Given the description of an element on the screen output the (x, y) to click on. 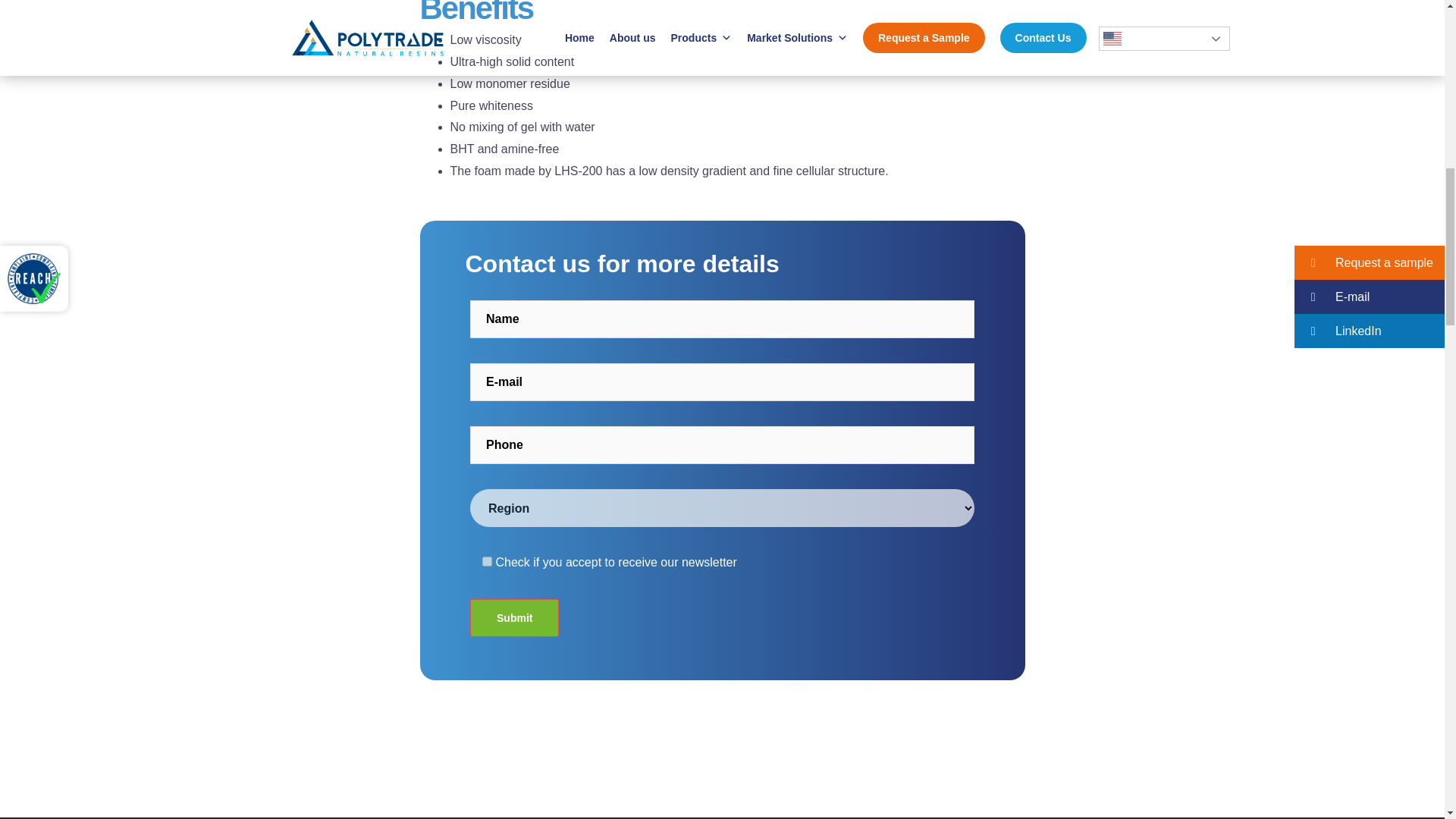
Check if you accept to receive our newsletter (486, 561)
Submit (514, 617)
